Given the description of an element on the screen output the (x, y) to click on. 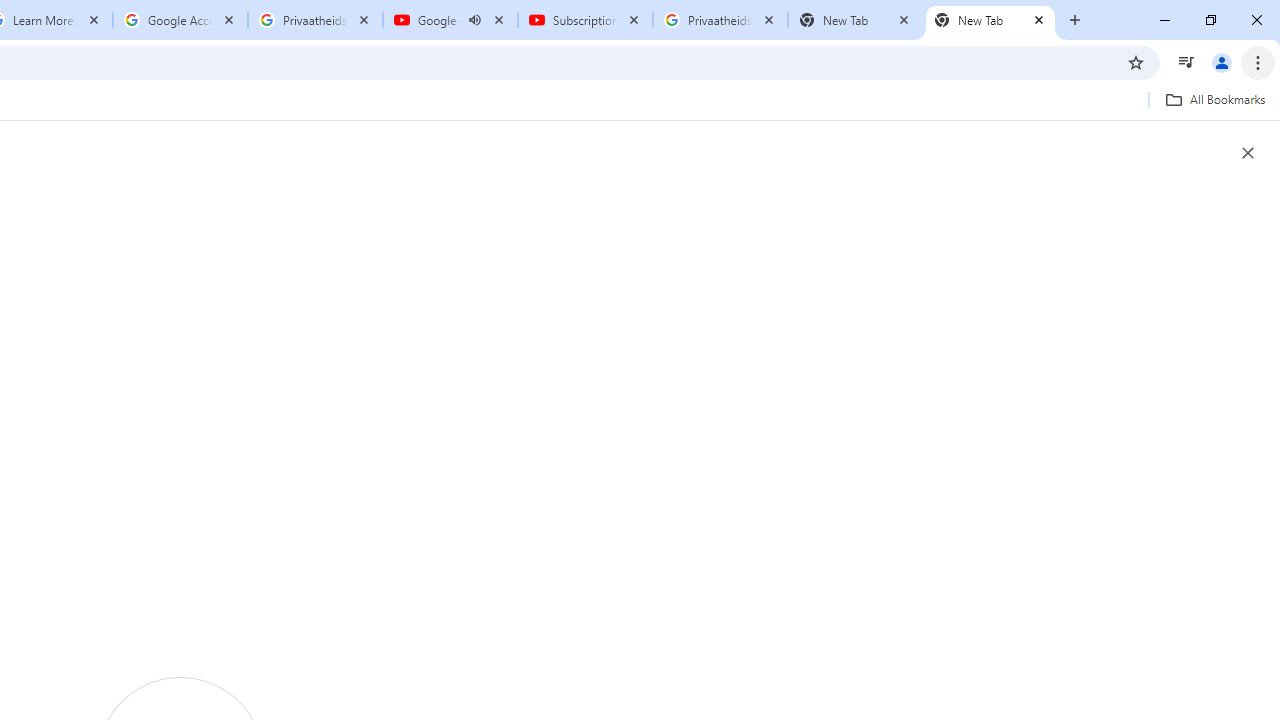
Mute tab (474, 20)
